Given the description of an element on the screen output the (x, y) to click on. 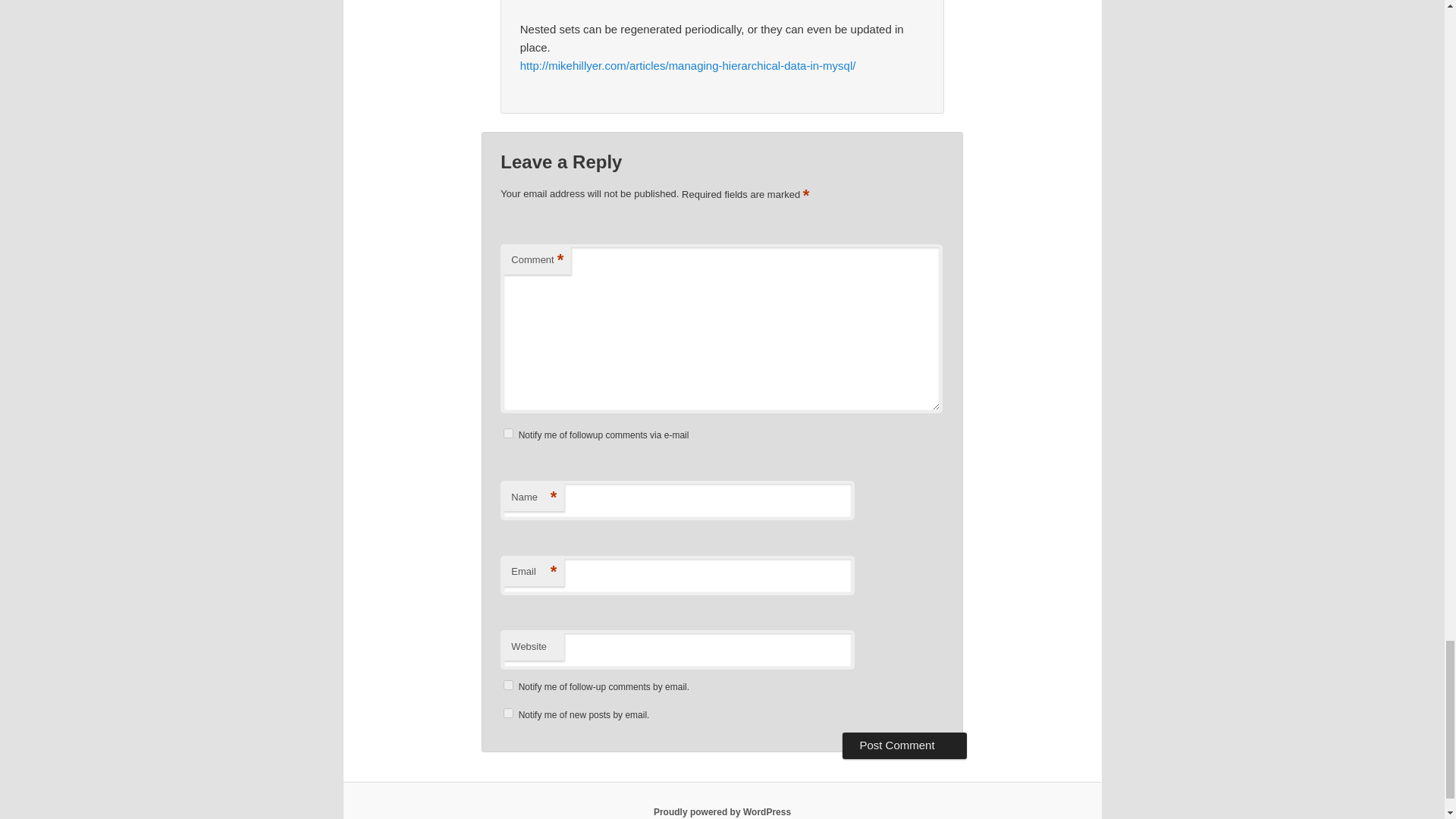
Post Comment (904, 745)
subscribe (508, 713)
Semantic Personal Publishing Platform (721, 811)
subscribe (508, 685)
subscribe (508, 433)
